Given the description of an element on the screen output the (x, y) to click on. 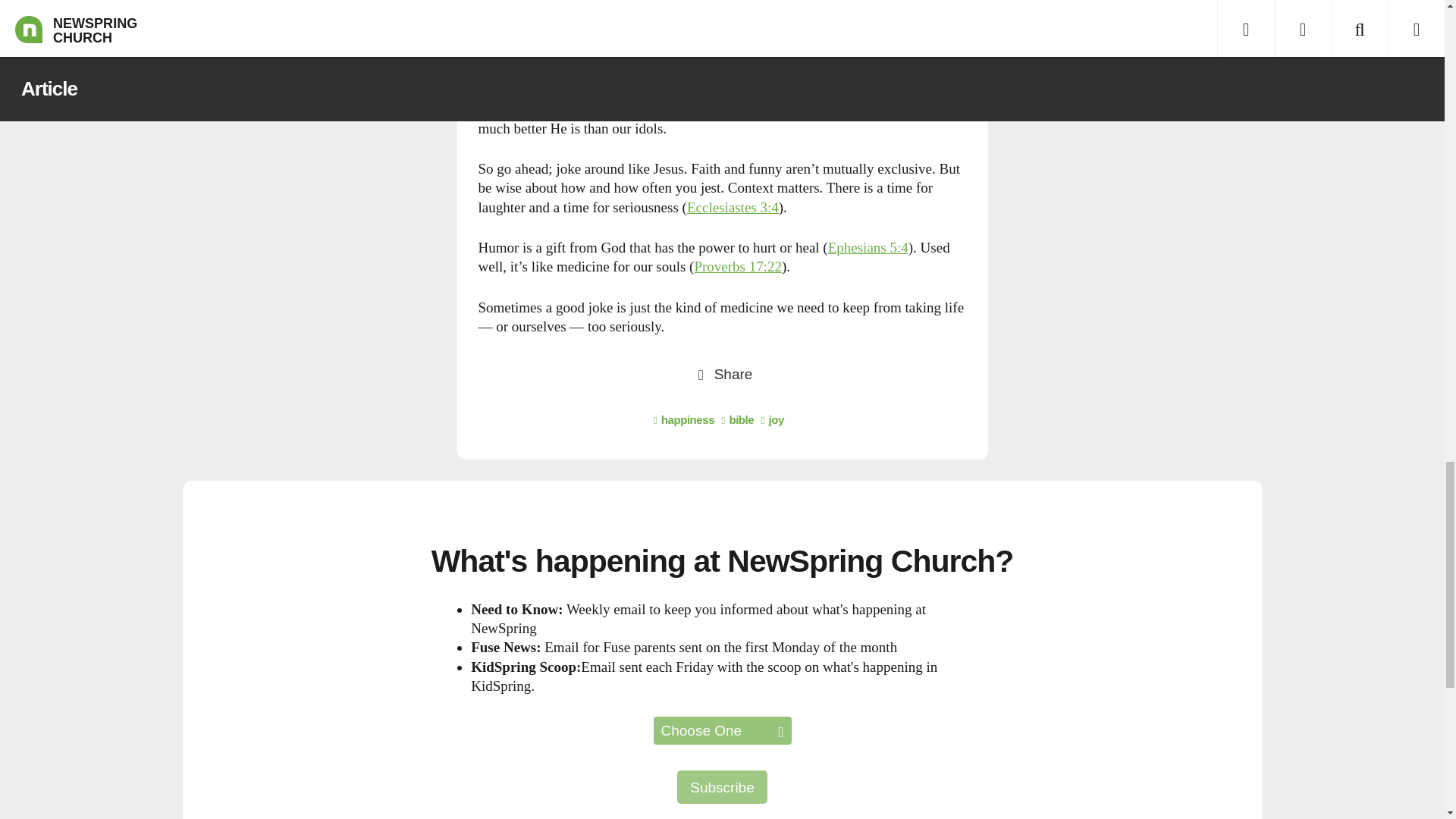
Proverbs 17:22 (737, 266)
bible (737, 419)
joy (772, 419)
happiness (683, 419)
Bible Gateway (868, 247)
Share (721, 373)
Bible Gateway (732, 207)
Ecclesiastes 3:4 (732, 207)
Bible Gateway (737, 266)
Subscribe (722, 786)
Ephesians 5:4 (868, 247)
